Given the description of an element on the screen output the (x, y) to click on. 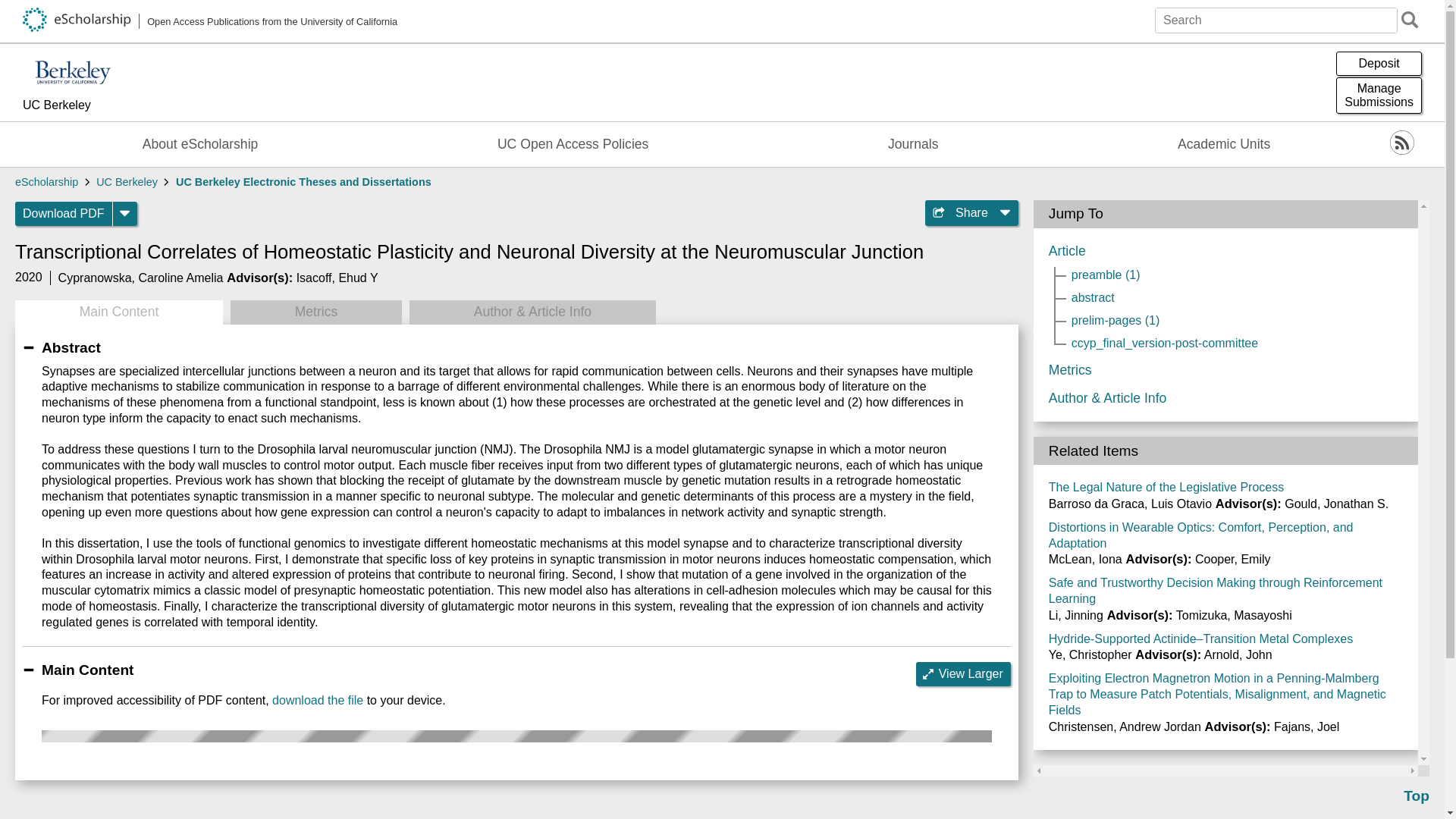
View Larger (962, 673)
Deposit (1379, 63)
download the file (1379, 94)
UC Berkeley (317, 699)
UC Open Access Policies (89, 105)
Journals (572, 143)
Metrics (913, 143)
UC Berkeley (315, 312)
Academic Units (126, 182)
